Given the description of an element on the screen output the (x, y) to click on. 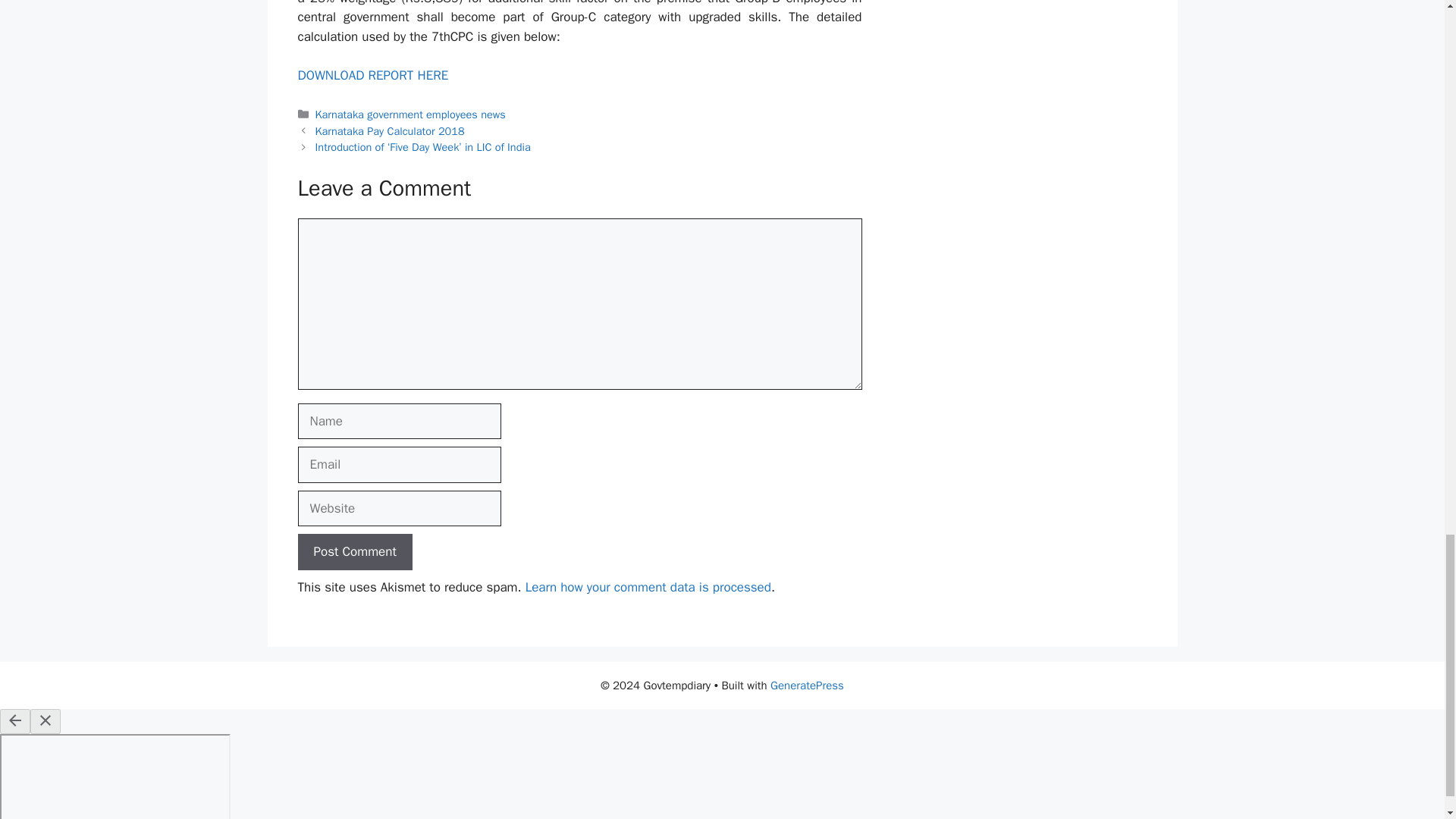
Page 202 (579, 42)
Post Comment (354, 551)
Learn how your comment data is processed (648, 587)
Post Comment (354, 551)
DOWNLOAD REPORT HERE (372, 75)
Page 201 (579, 42)
Karnataka government employees news (410, 114)
Karnataka Pay Calculator 2018 (389, 131)
